Given the description of an element on the screen output the (x, y) to click on. 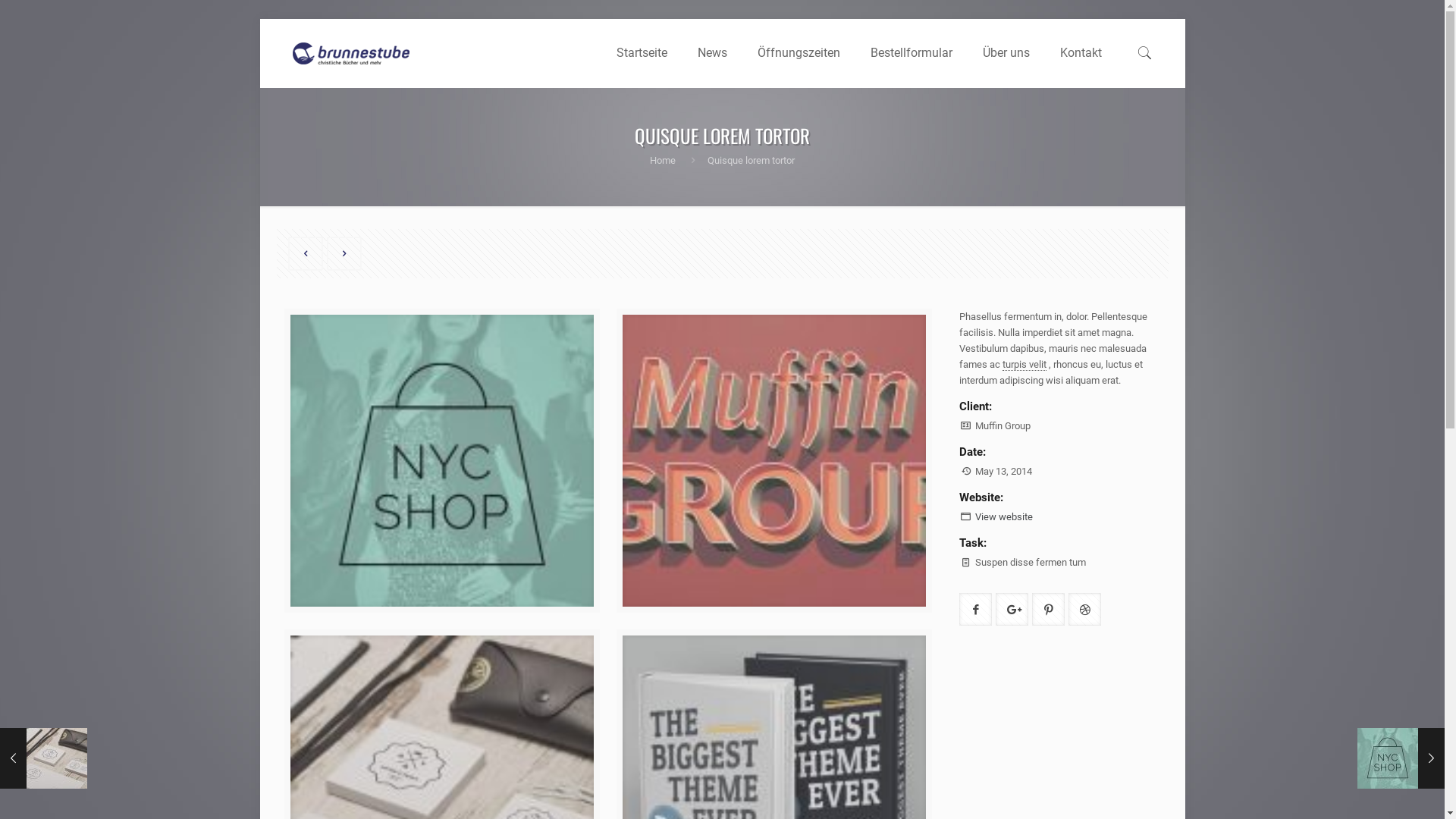
View website Element type: text (1003, 516)
News Element type: text (712, 52)
Brunnestube Element type: hover (350, 52)
Home Element type: text (662, 160)
Kontakt Element type: text (1080, 52)
Startseite Element type: text (641, 52)
Bestellformular Element type: text (911, 52)
